Given the description of an element on the screen output the (x, y) to click on. 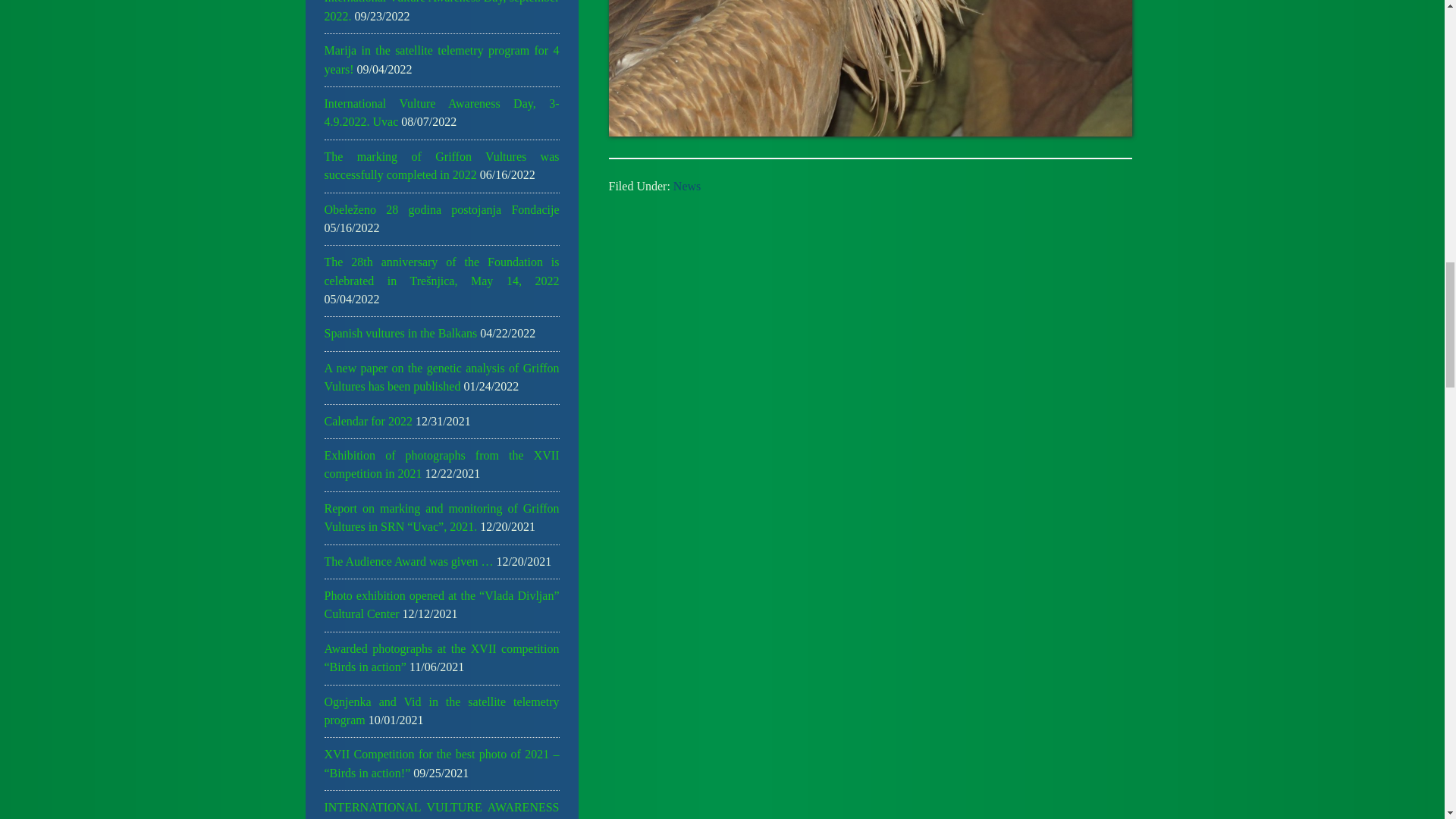
News (686, 185)
